Given the description of an element on the screen output the (x, y) to click on. 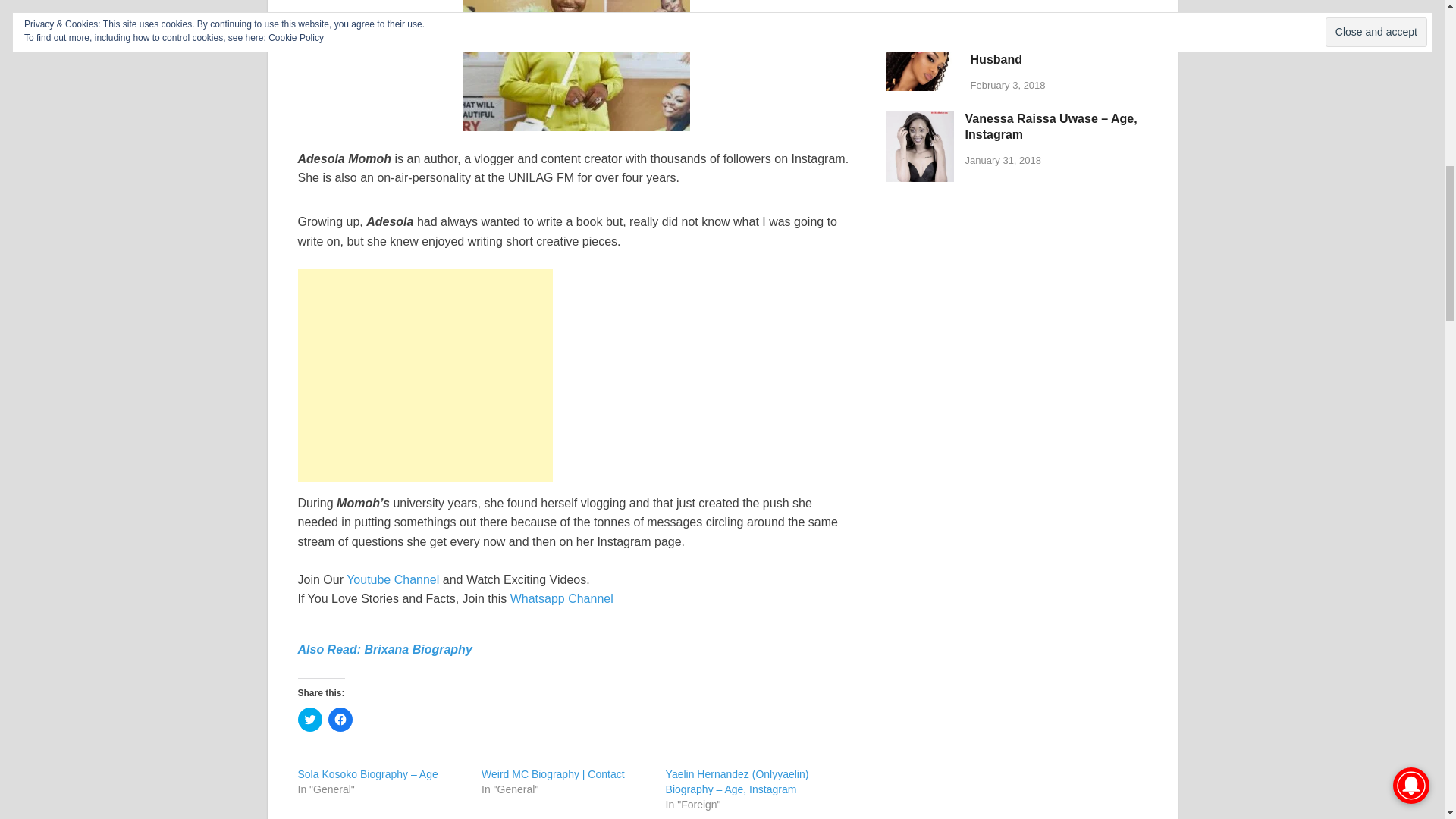
Advertisement (424, 375)
Click to share on Twitter (309, 719)
Click to share on Facebook (339, 719)
